Given the description of an element on the screen output the (x, y) to click on. 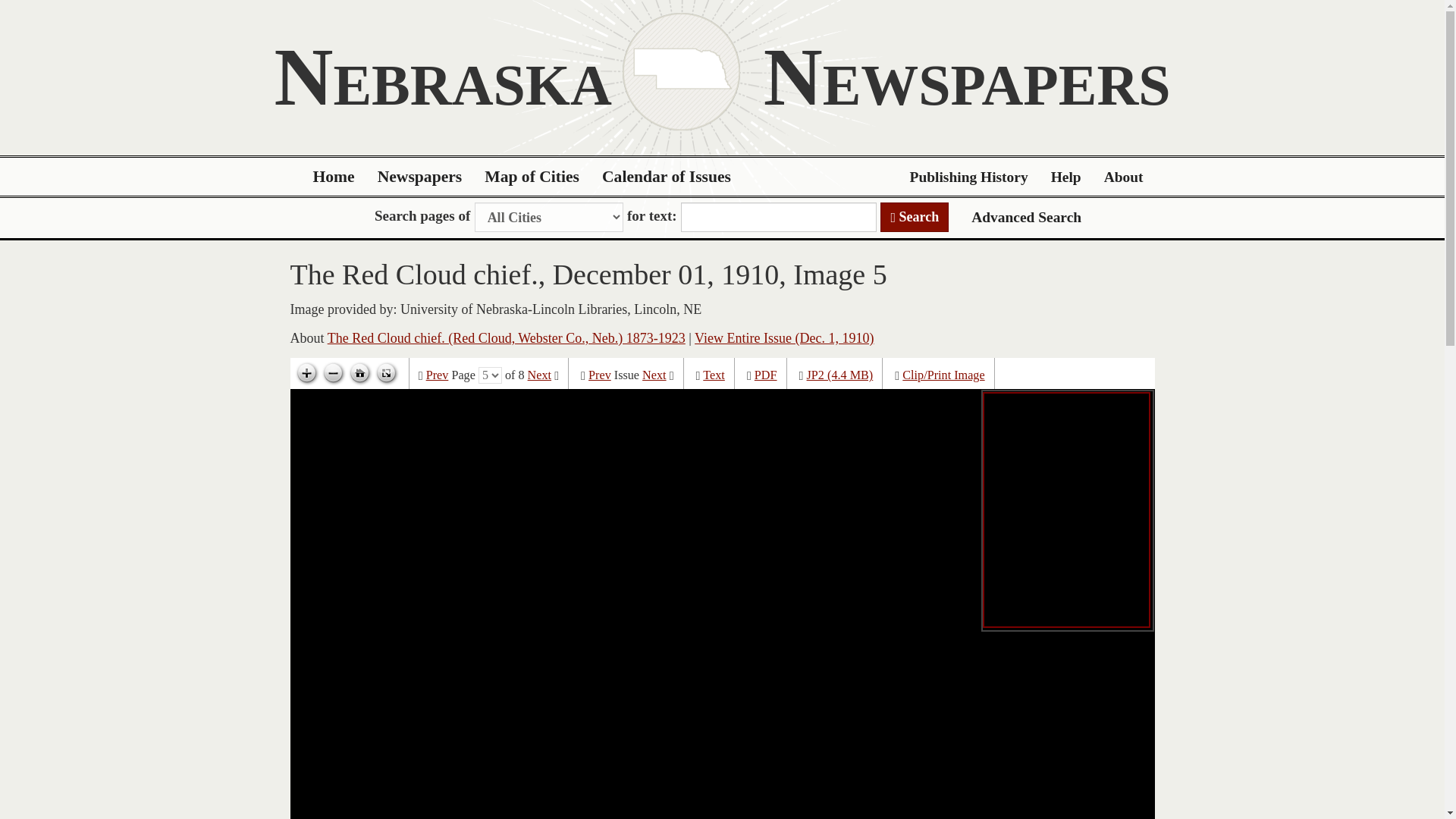
Search (914, 217)
Calendar of Issues (666, 176)
PDF (765, 375)
Text (714, 375)
Zoom in (307, 373)
Next (539, 375)
Help (1066, 176)
Prev (437, 375)
Go home (359, 373)
Toggle full page (385, 373)
Home (333, 176)
About (1123, 176)
Newspapers (420, 176)
Map of Cities (532, 176)
Advanced Search (1026, 216)
